Given the description of an element on the screen output the (x, y) to click on. 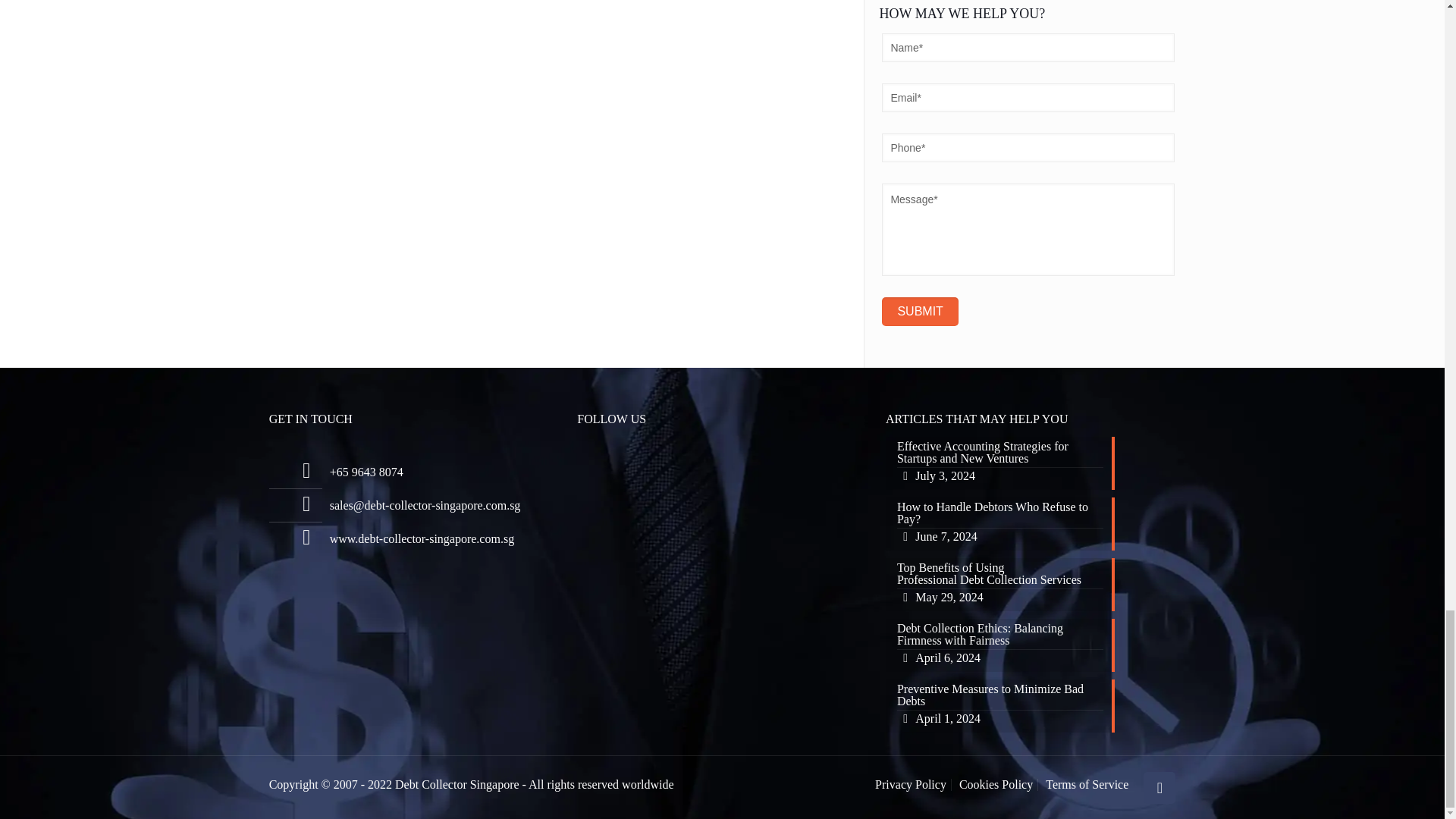
SUBMIT (920, 311)
www.debt-collector-singapore.com.sg (421, 538)
SUBMIT (1029, 523)
